Given the description of an element on the screen output the (x, y) to click on. 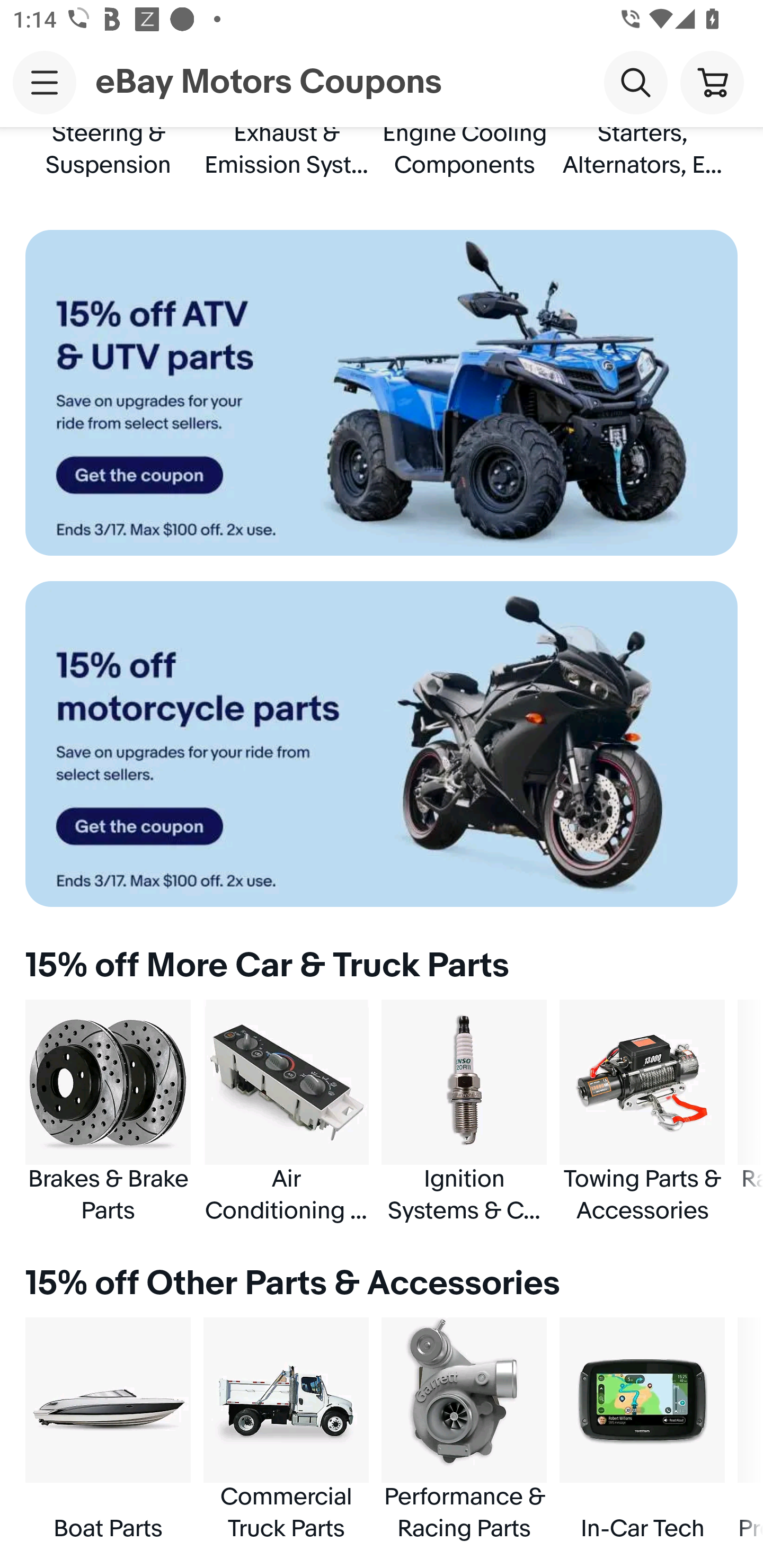
Main navigation, open (44, 82)
Search (635, 81)
Cart button shopping cart (711, 81)
15% off atv and utv parts (381, 392)
15% off motorcycle parts (381, 743)
Brakes & Brake Parts (107, 1112)
Air Conditioning & Heating (285, 1112)
Ignition Systems & Components (464, 1112)
Towing Parts & Accessories (641, 1112)
Boat Parts (107, 1429)
Commercial Truck Parts (285, 1429)
Performance & Racing Parts (464, 1429)
In-Car Tech (641, 1429)
